Given the description of an element on the screen output the (x, y) to click on. 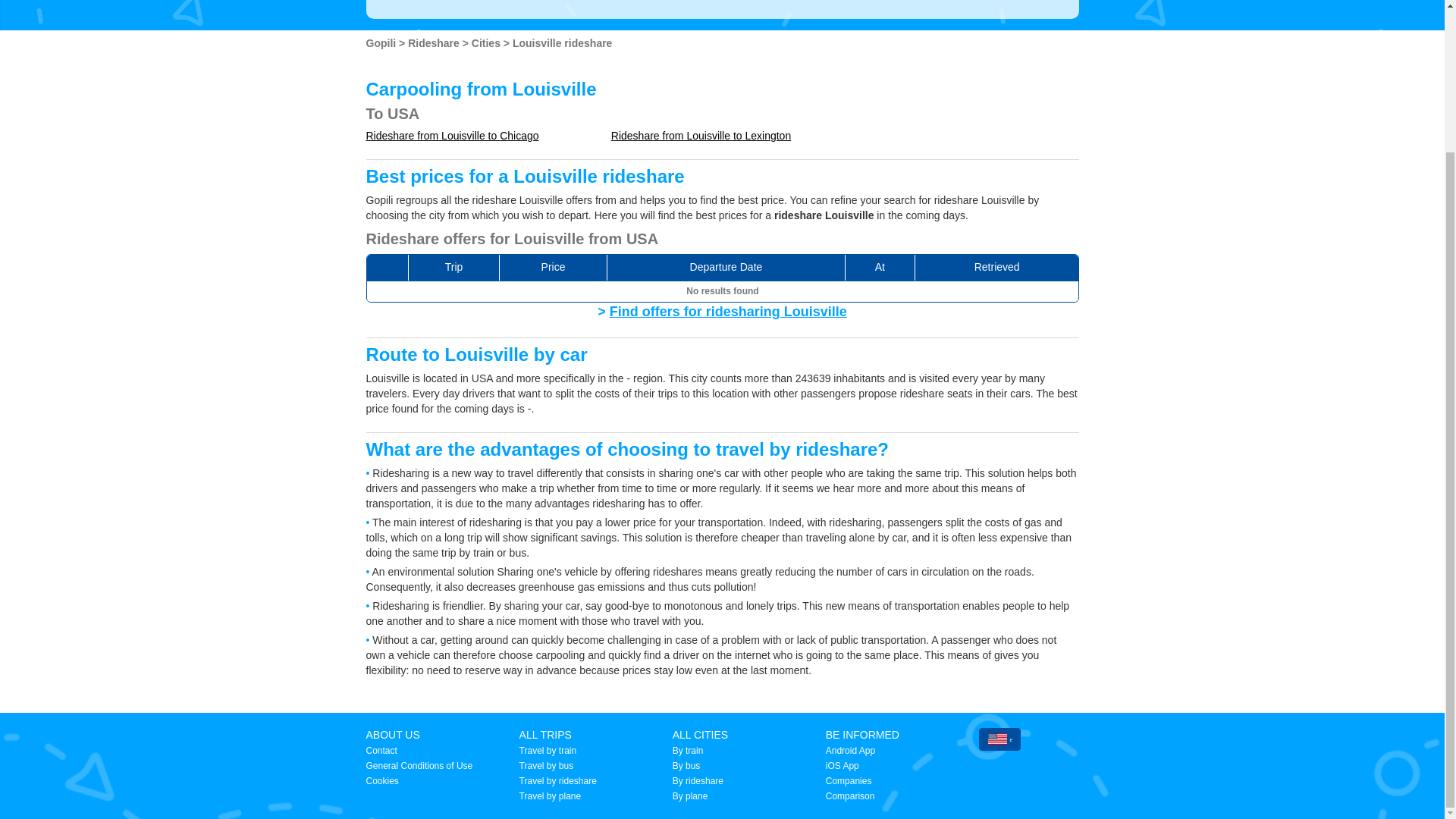
By plane (689, 796)
By rideshare (697, 780)
iOS App (842, 765)
By train (687, 750)
Rideshare (435, 42)
General Conditions of Use (418, 765)
Cookies (381, 780)
Gopili (381, 42)
By bus (686, 765)
Contact (380, 750)
Rideshare from Louisville to Lexington (700, 135)
Travel by plane (549, 796)
Louisville rideshare (562, 42)
Rideshare from Louisville to Chicago (451, 135)
Travel by bus (546, 765)
